Given the description of an element on the screen output the (x, y) to click on. 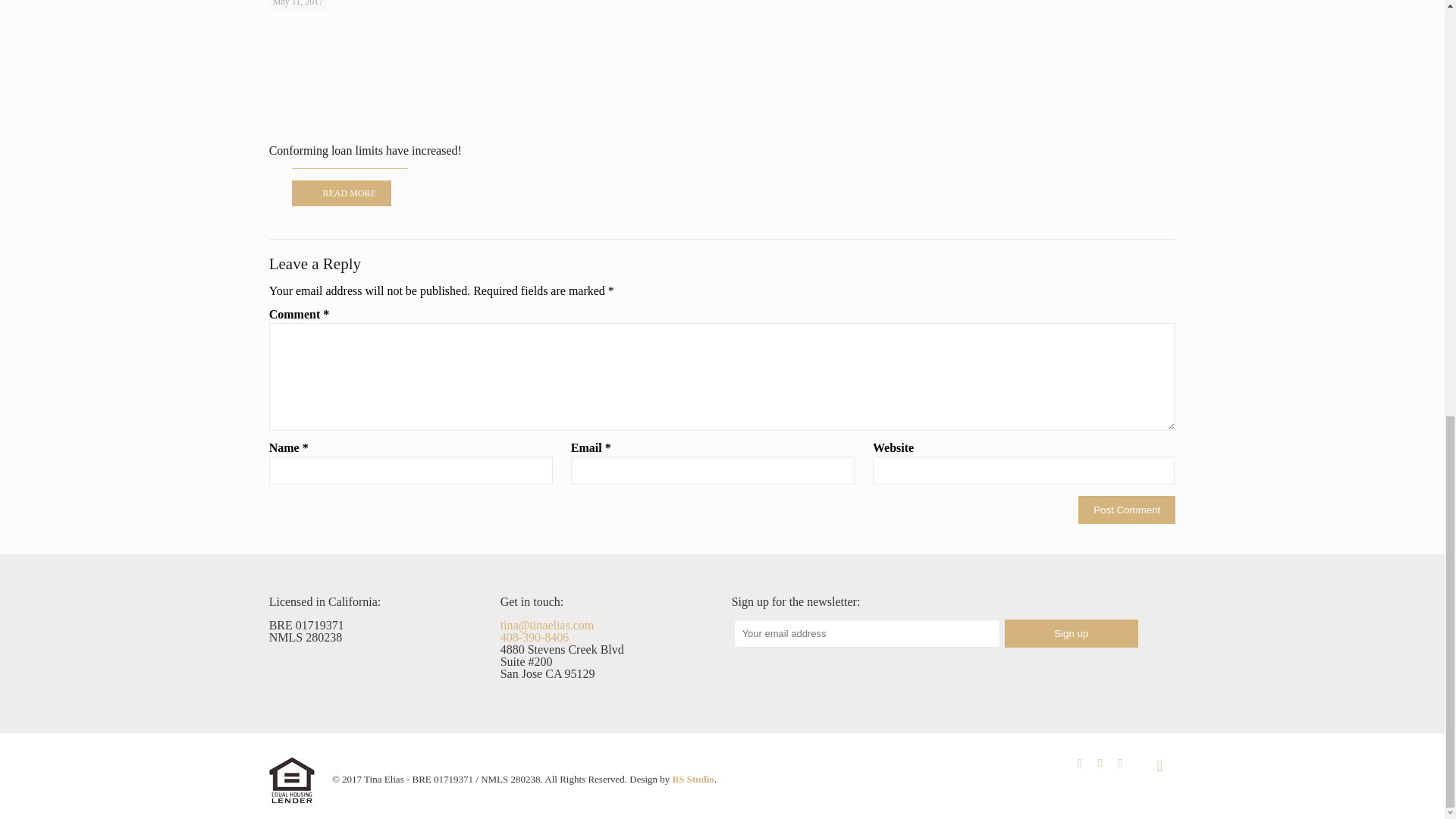
408-390-8406 (534, 636)
LinkedIn (1100, 762)
Post Comment (1126, 510)
Instagram (1120, 762)
Sign up (1071, 633)
Sign up (1071, 633)
Post Comment (1126, 510)
Conforming loan limits have increased! (365, 150)
BS Studio (693, 778)
Facebook (1079, 762)
READ MORE (341, 193)
